Given the description of an element on the screen output the (x, y) to click on. 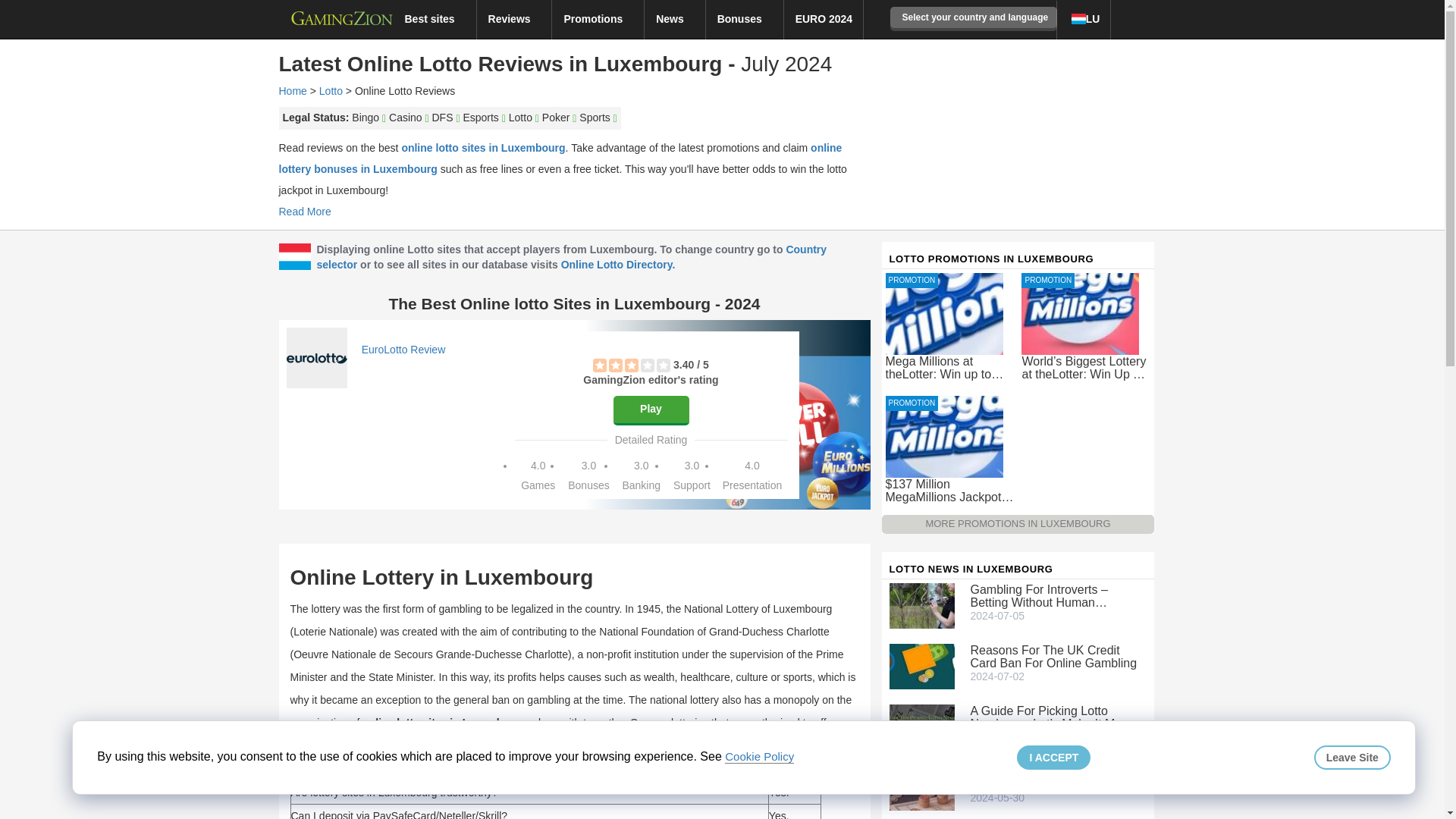
Reviews (515, 18)
Best sites (434, 18)
Best sites (434, 18)
Promotions (598, 18)
Reviews (515, 18)
Bonuses (745, 18)
News (674, 18)
